Given the description of an element on the screen output the (x, y) to click on. 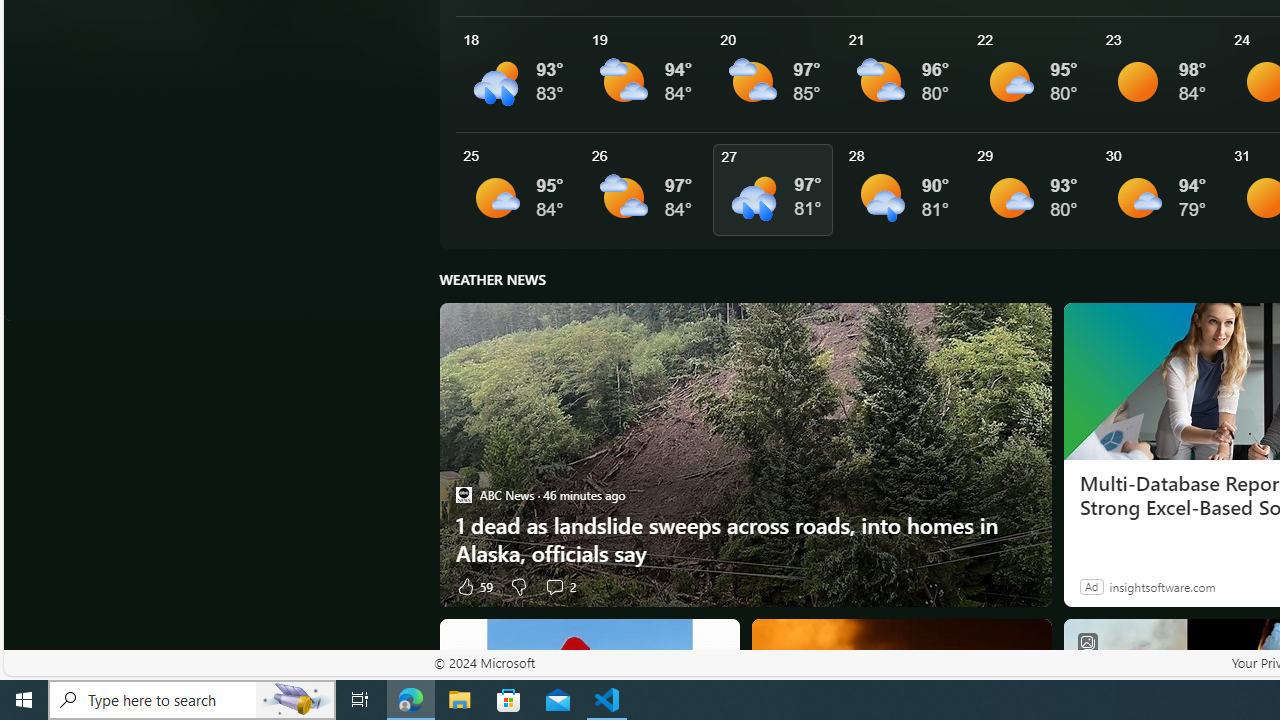
See More Details (1162, 190)
View comments 2 Comment (554, 586)
